Given the description of an element on the screen output the (x, y) to click on. 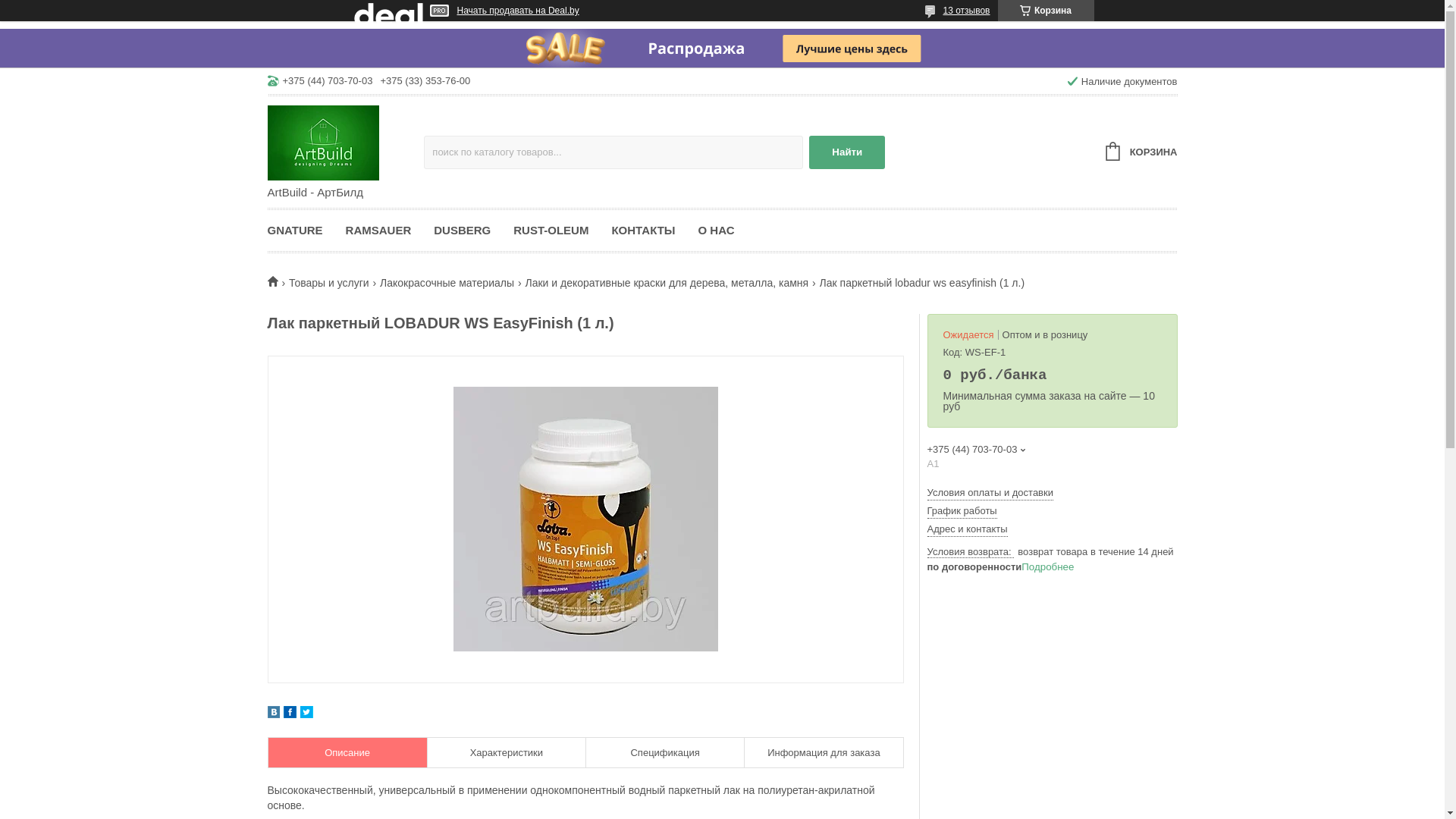
twitter Element type: hover (306, 714)
RAMSAUER Element type: text (378, 229)
RUST-OLEUM Element type: text (550, 229)
facebook Element type: hover (289, 714)
GNATURE Element type: text (299, 229)
DUSBERG Element type: text (462, 229)
